Given the description of an element on the screen output the (x, y) to click on. 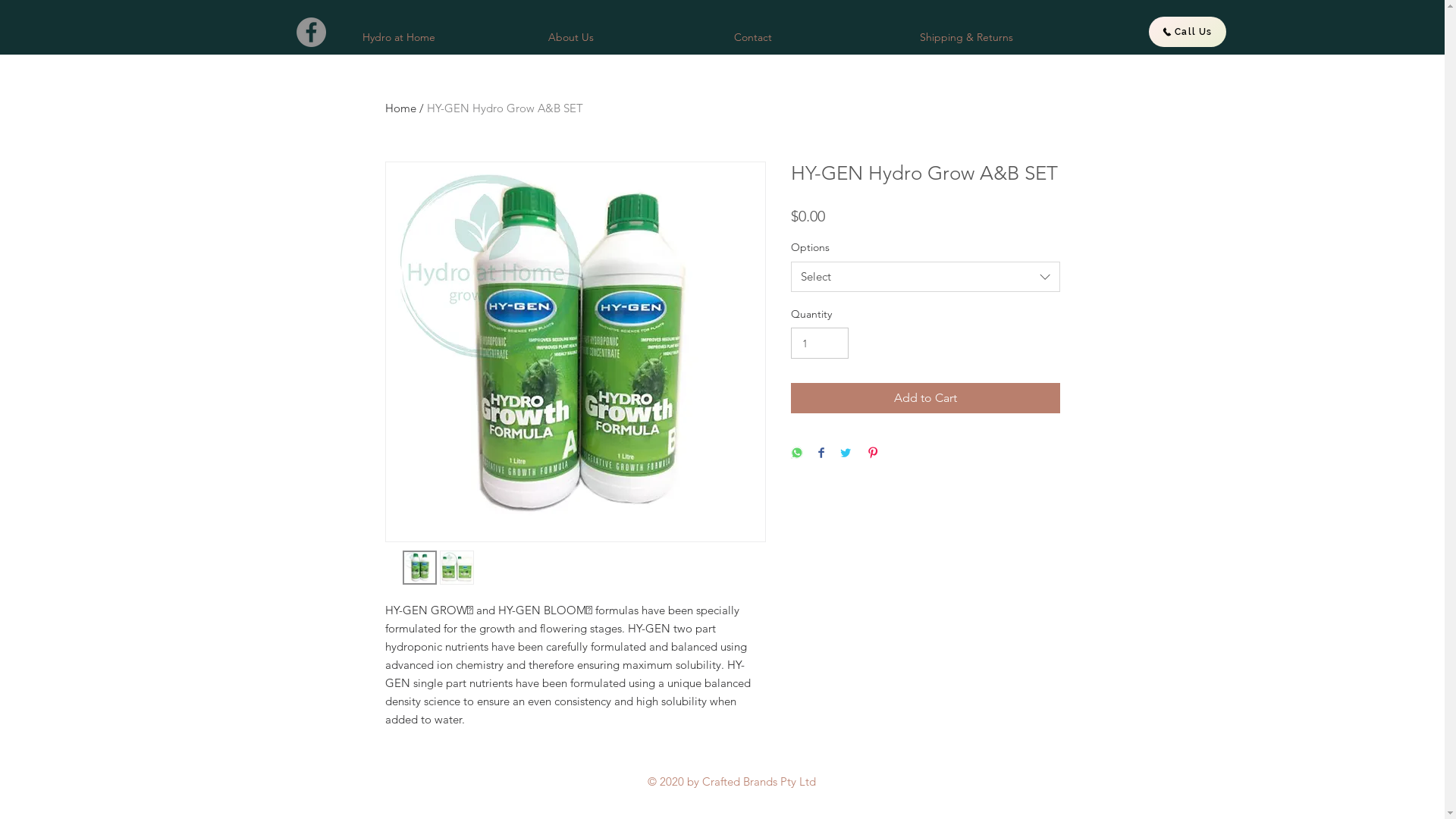
Add to Cart Element type: text (924, 397)
Hydro at Home Element type: text (443, 37)
Home Element type: text (400, 107)
Select Element type: text (924, 276)
Shipping & Returns Element type: text (1001, 37)
About Us Element type: text (629, 37)
Contact Element type: text (814, 37)
HY-GEN Hydro Grow A&B SET Element type: text (504, 107)
Call Us Element type: text (1186, 31)
